Given the description of an element on the screen output the (x, y) to click on. 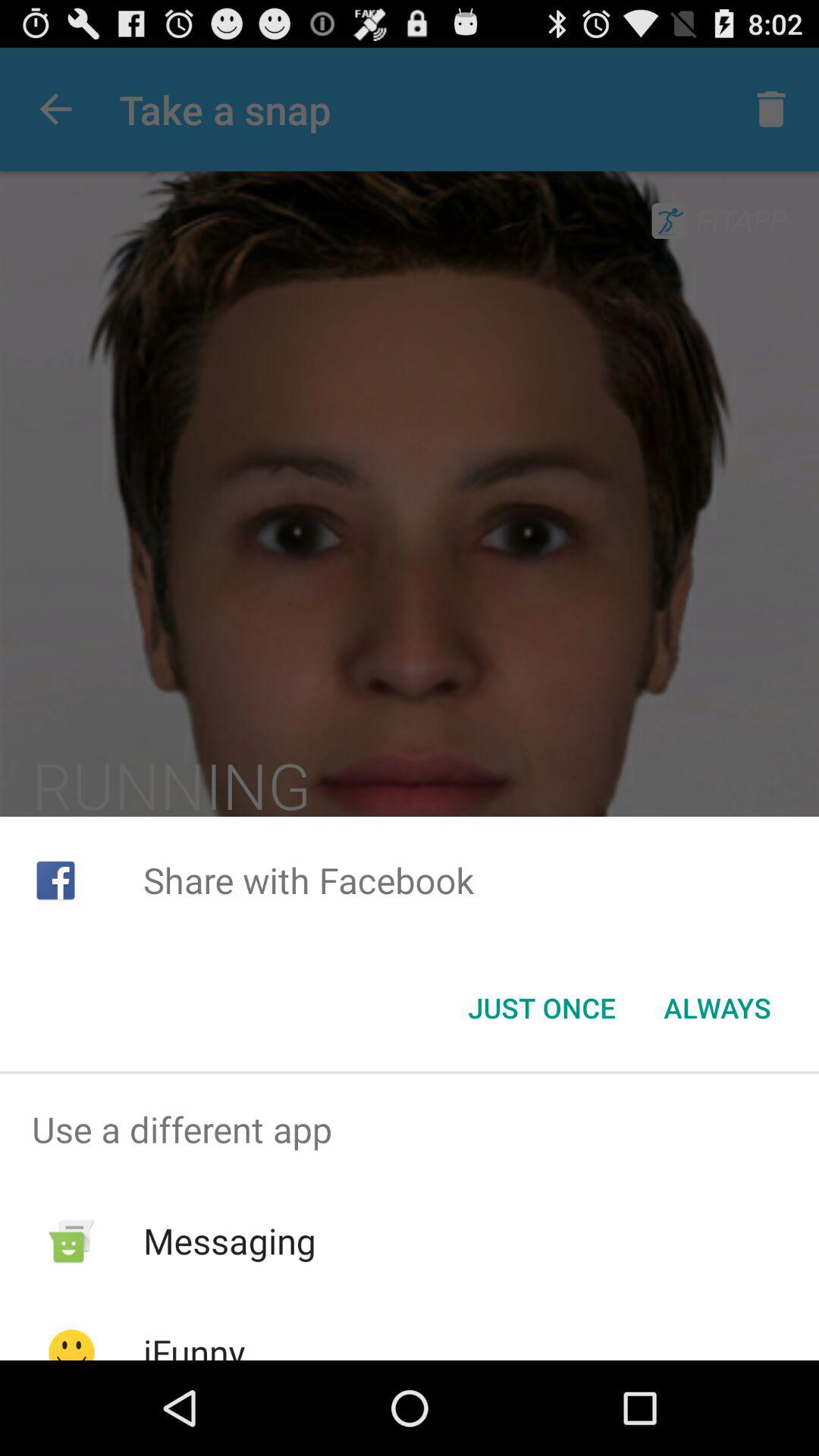
tap the messaging item (229, 1240)
